Given the description of an element on the screen output the (x, y) to click on. 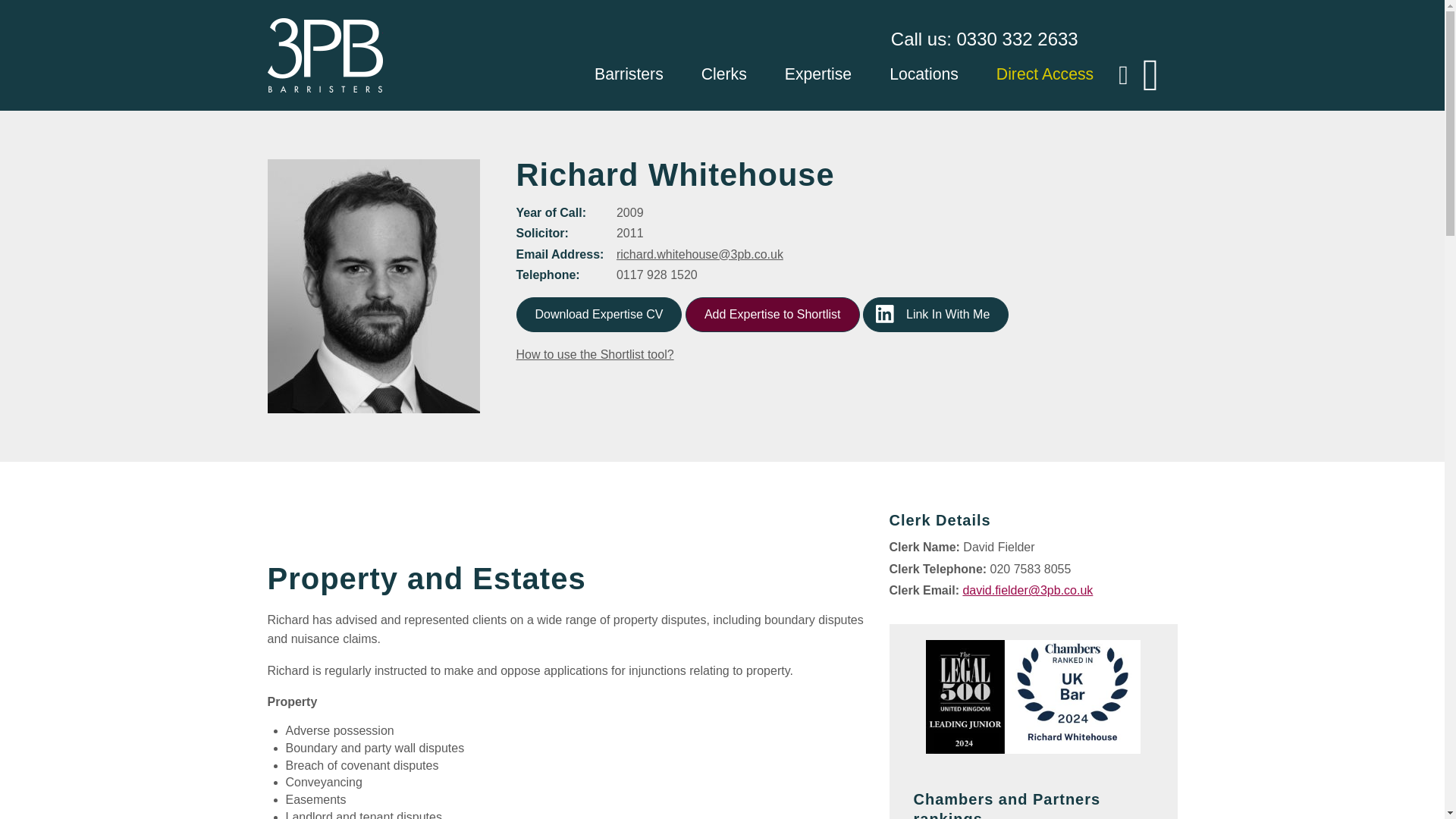
Barristers (628, 75)
Call us: 0330 332 2633 (984, 38)
3PB Barristers (323, 55)
Search (8, 9)
Clerks (723, 75)
Direct Access (1044, 75)
Locations (923, 75)
Expertise (817, 75)
